Given the description of an element on the screen output the (x, y) to click on. 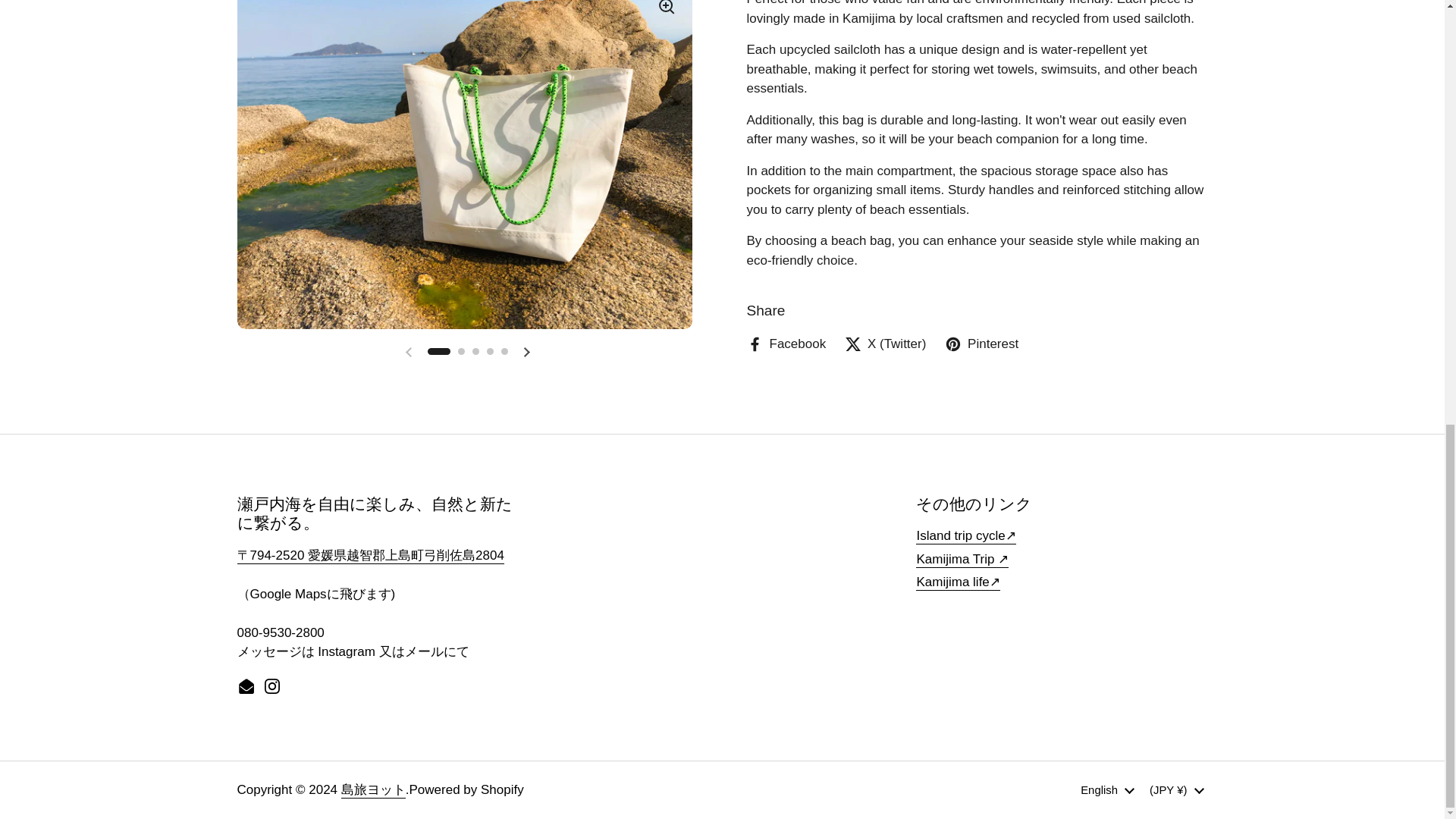
Instagram (271, 687)
Pinterest (980, 343)
English (1107, 790)
Share on X (885, 343)
Email (244, 687)
Facebook (785, 343)
Share on facebook (785, 343)
Share on pinterest (980, 343)
